Given the description of an element on the screen output the (x, y) to click on. 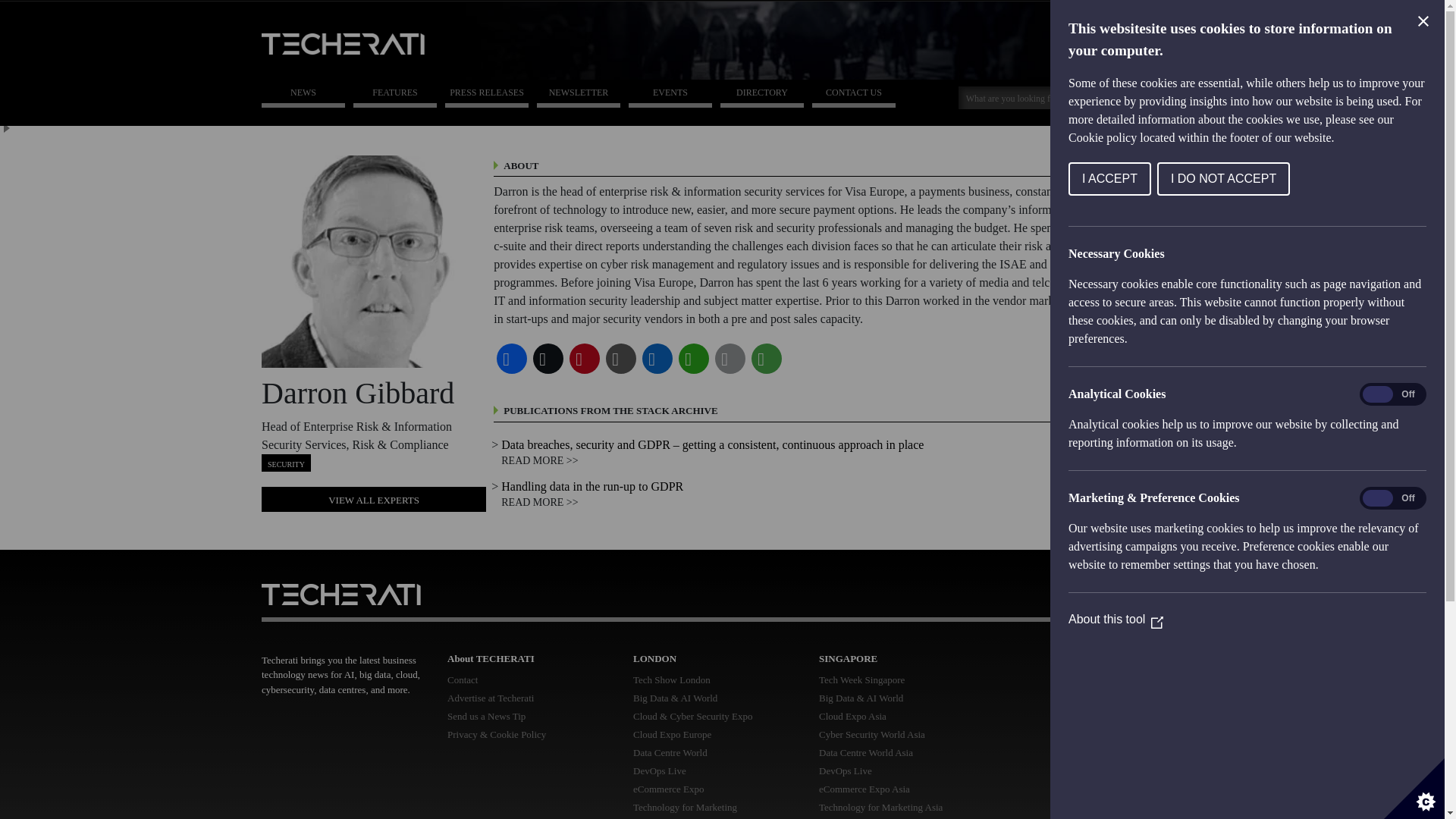
Search (1144, 96)
Email This (729, 358)
Pinterest (584, 358)
Search (1144, 96)
More Options (766, 358)
LinkedIn (657, 358)
Facebook (511, 358)
WhatsApp (693, 358)
Search (1033, 97)
Copy Link (620, 358)
